Given the description of an element on the screen output the (x, y) to click on. 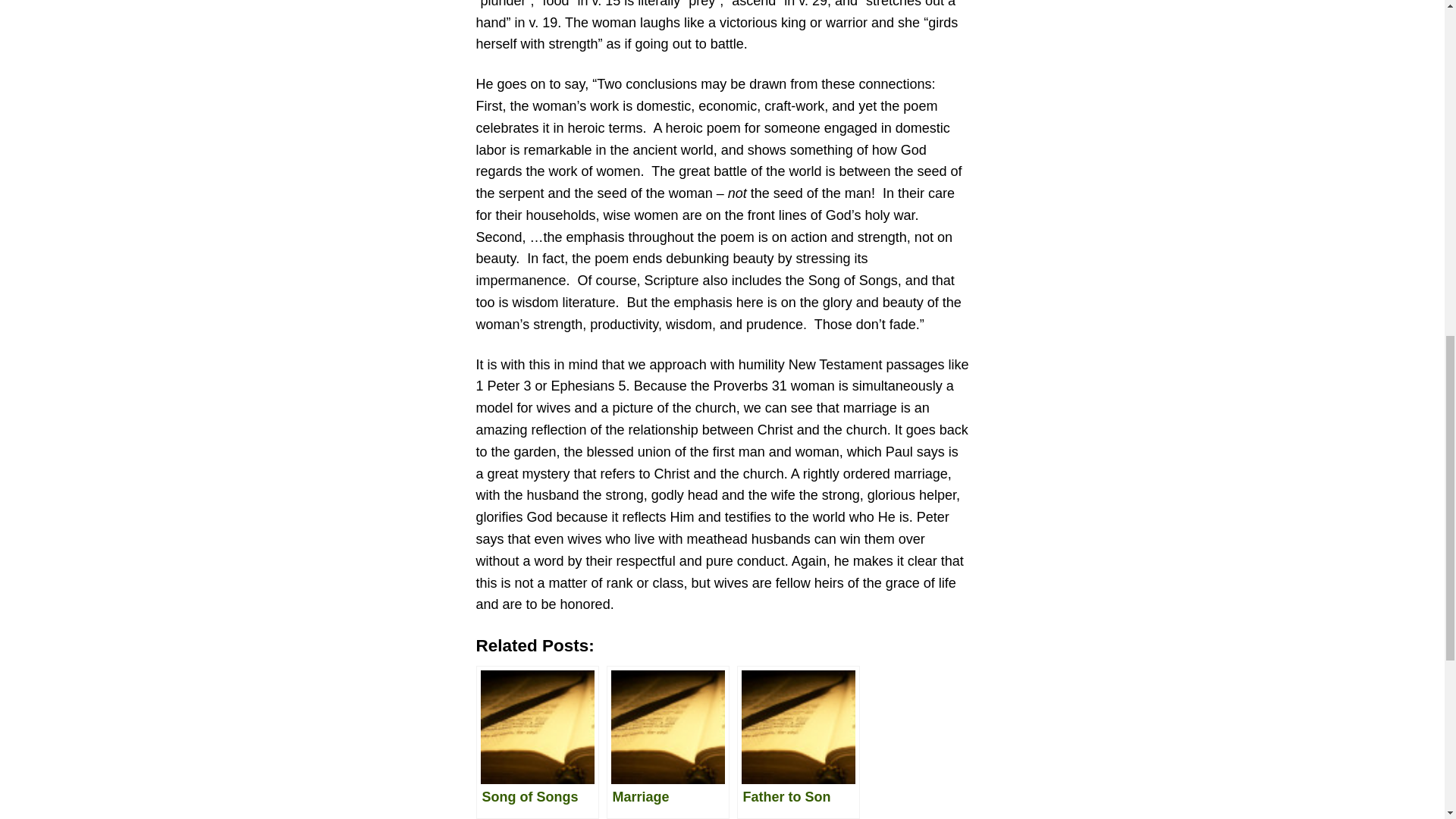
Song of Songs (537, 742)
Marriage (668, 742)
Song of Songs (537, 742)
Father to Son (798, 742)
Marriage (668, 742)
Father to Son (798, 742)
